Given the description of an element on the screen output the (x, y) to click on. 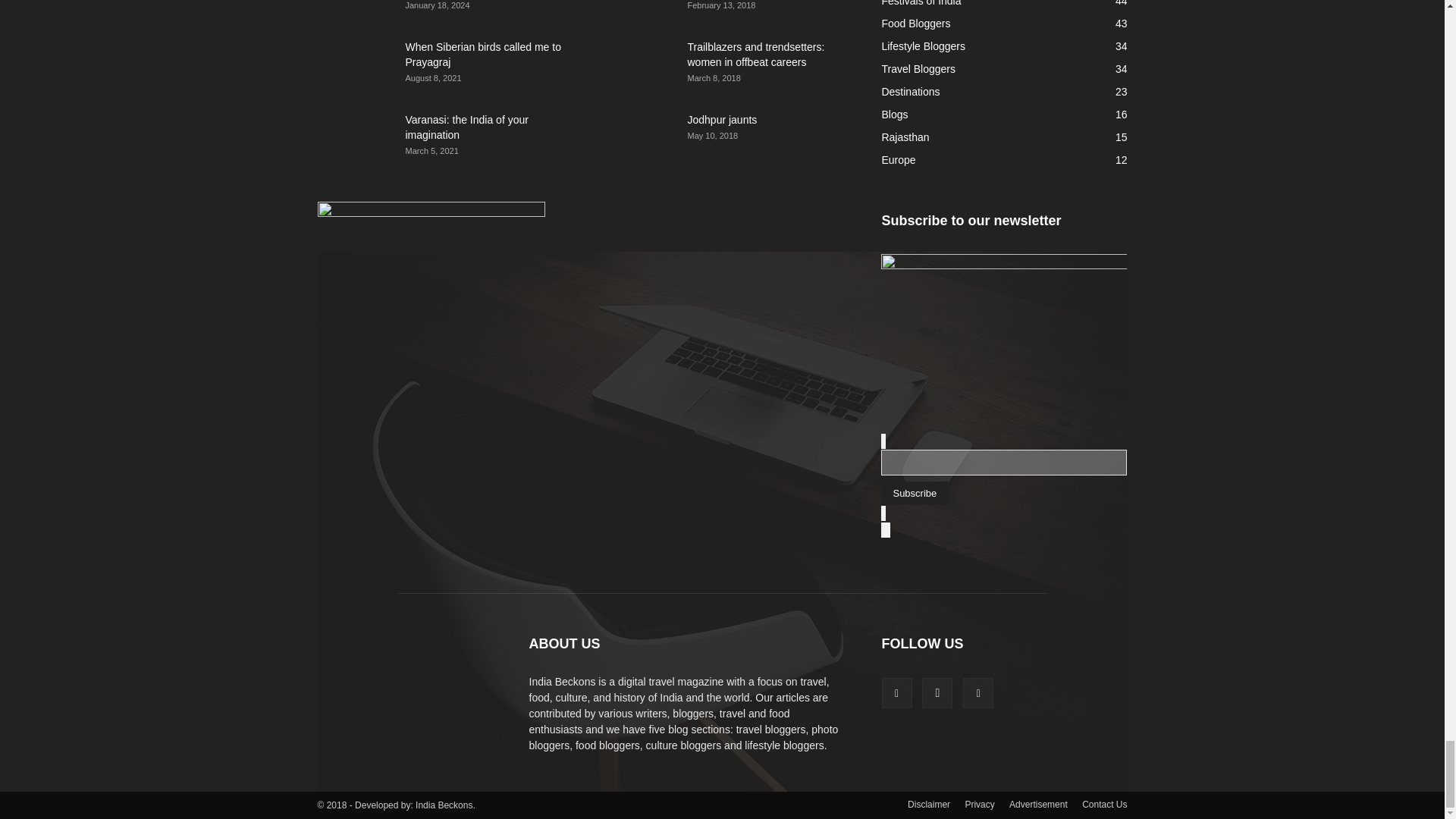
Subscribe (913, 493)
